Given the description of an element on the screen output the (x, y) to click on. 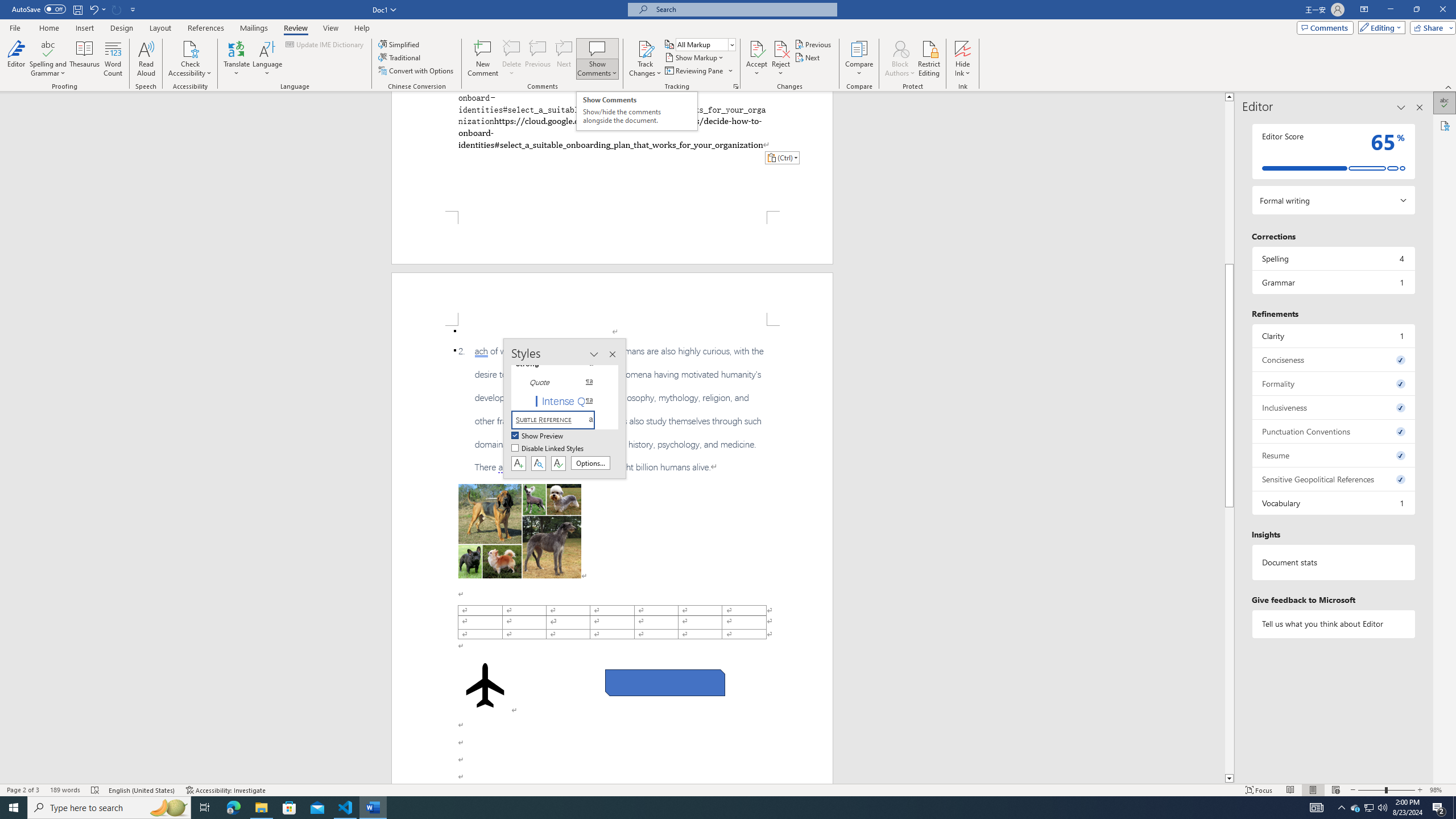
Morphological variation in six dogs (519, 531)
Read Aloud (145, 58)
Intense Quote (559, 400)
2. (611, 409)
Page 2 content (611, 554)
Next (808, 56)
Track Changes (644, 58)
Rectangle: Diagonal Corners Snipped 2 (665, 682)
Language (267, 58)
Formality, 0 issues. Press space or enter to review items. (1333, 383)
